Given the description of an element on the screen output the (x, y) to click on. 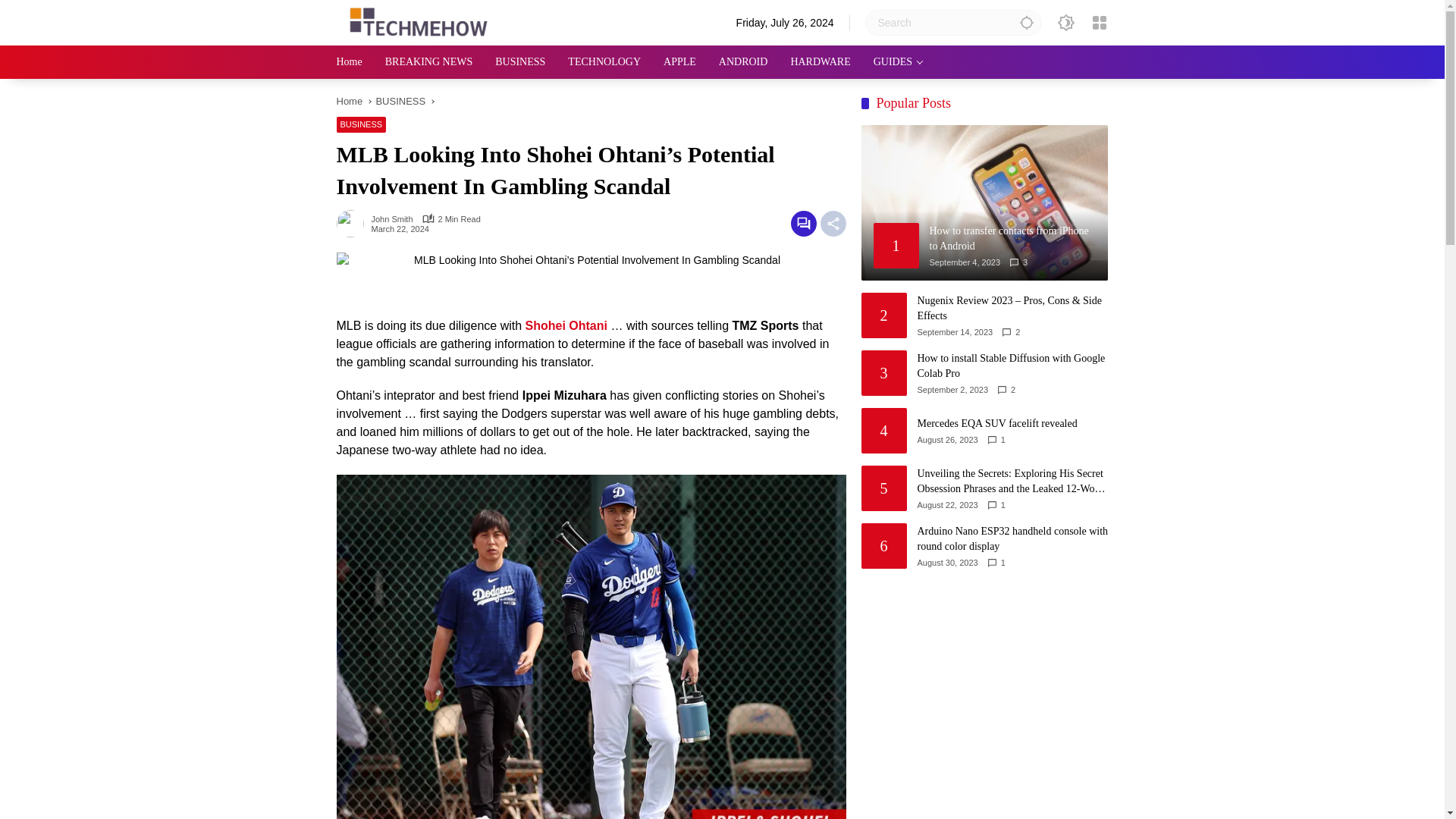
TECHNOLOGY (603, 61)
ANDROID (743, 61)
GUIDES (898, 61)
View all posts in BUSINESS (361, 124)
BUSINESS (361, 124)
TechMehow (414, 21)
APPLE (679, 61)
BUSINESS (519, 61)
Shohei Ohtani (566, 324)
BUSINESS (400, 101)
John Smith (392, 219)
Permalink to: John Smith (353, 222)
Home (349, 61)
BREAKING NEWS (429, 61)
Home (349, 101)
